Given the description of an element on the screen output the (x, y) to click on. 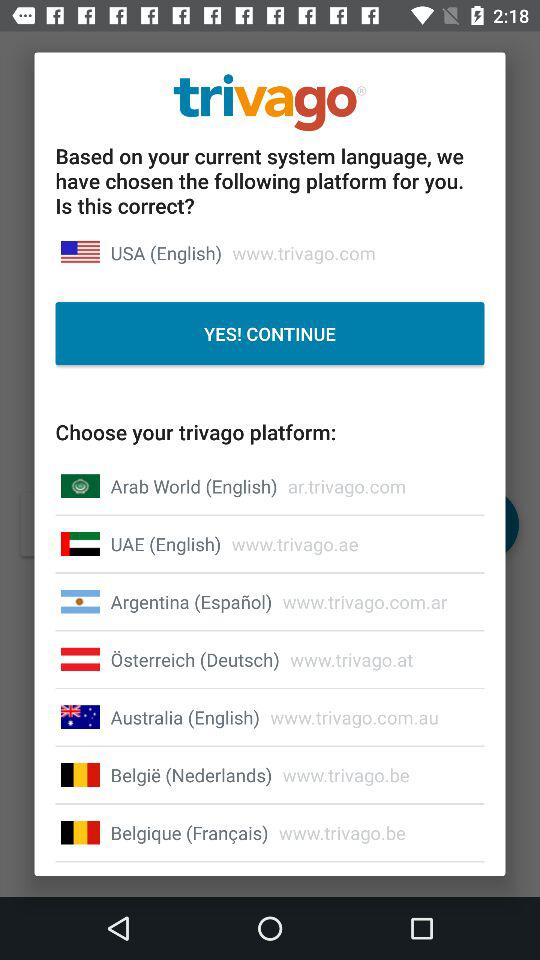
click icon next to the ar.trivago.com icon (193, 486)
